Given the description of an element on the screen output the (x, y) to click on. 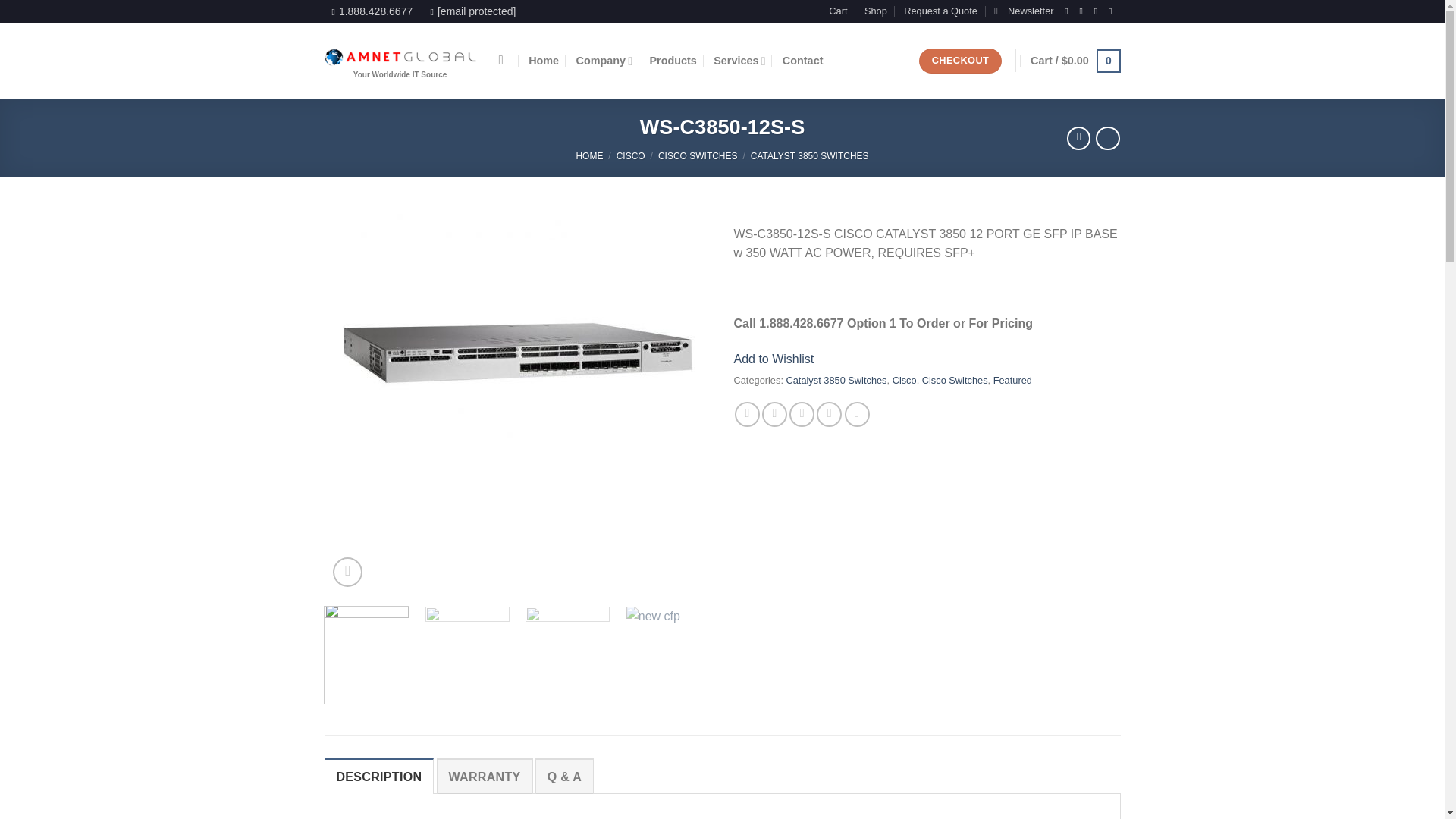
Send us an email (1113, 10)
Follow on Twitter (1098, 10)
Services (739, 60)
Share on Twitter (774, 414)
Newsletter (1023, 11)
Cart (1075, 60)
Share on Tumblr (856, 414)
1.888.428.6677 (375, 10)
Shop (875, 11)
CATALYST 3850 SWITCHES (810, 155)
Products (672, 60)
Home (543, 60)
Request a Quote (940, 11)
HOME (588, 155)
